Given the description of an element on the screen output the (x, y) to click on. 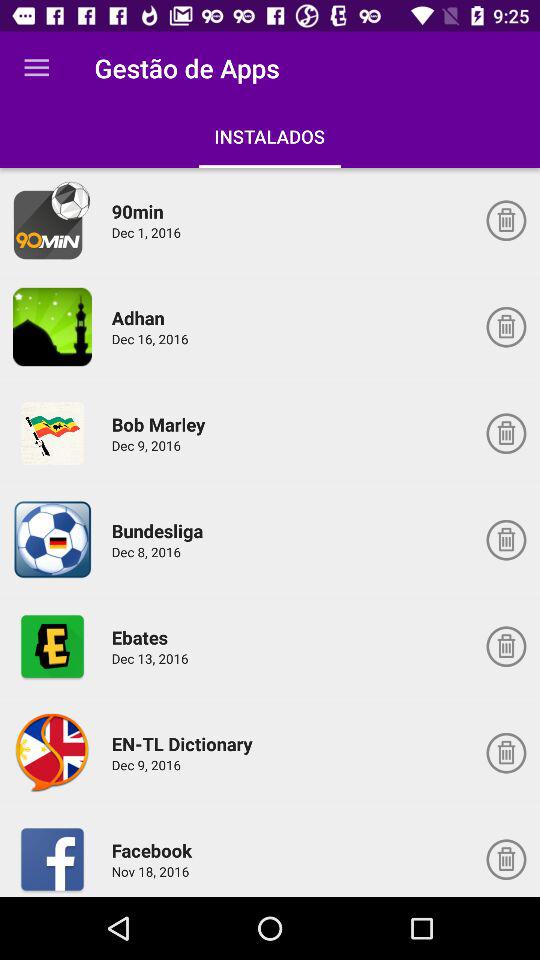
open up icon (52, 752)
